Given the description of an element on the screen output the (x, y) to click on. 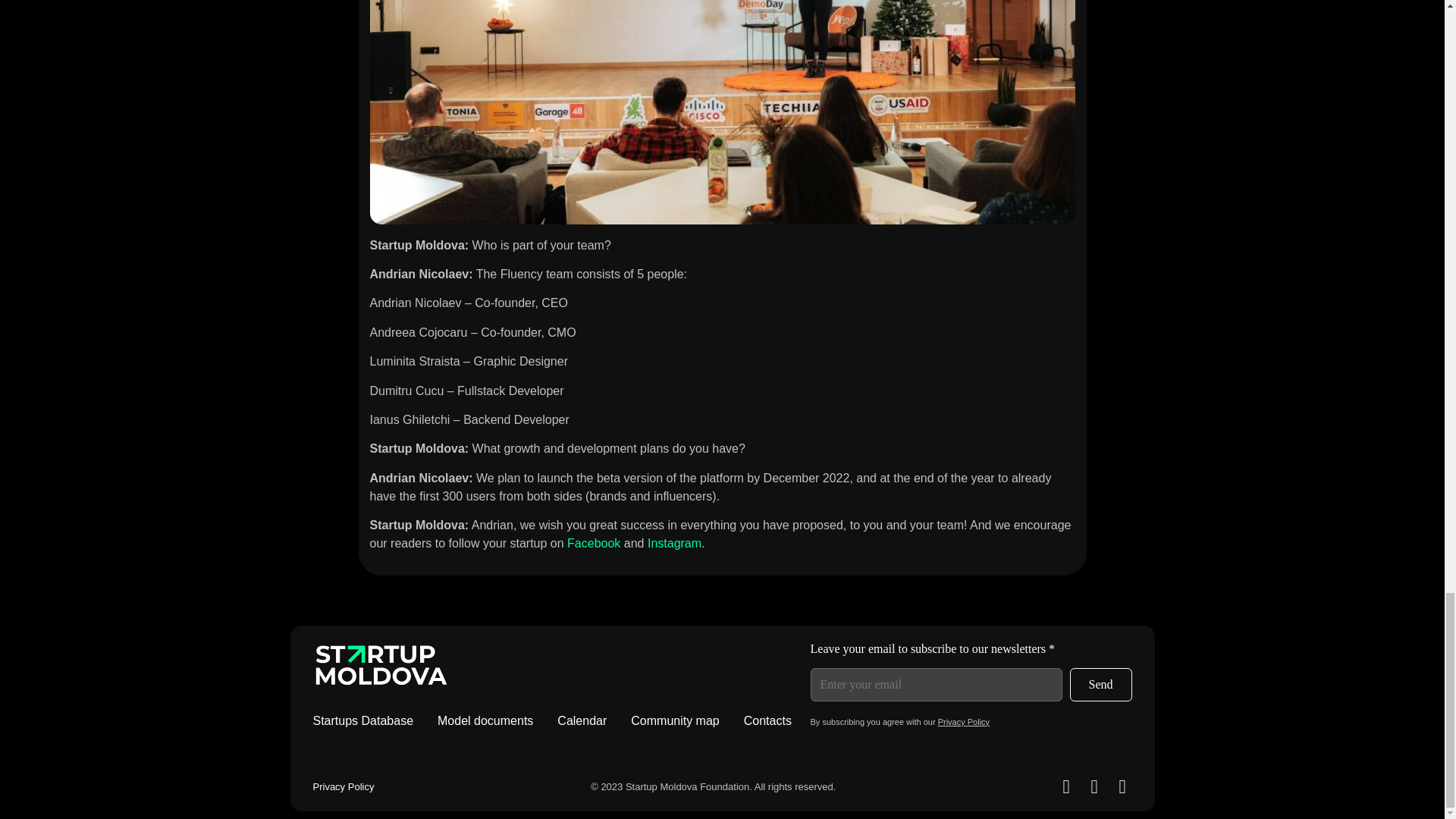
Startups Database (363, 720)
Send (1099, 684)
Facebook (593, 543)
Calendar (582, 720)
Community map (674, 720)
Contacts (768, 720)
Instagram (674, 543)
Model documents (485, 720)
